Given the description of an element on the screen output the (x, y) to click on. 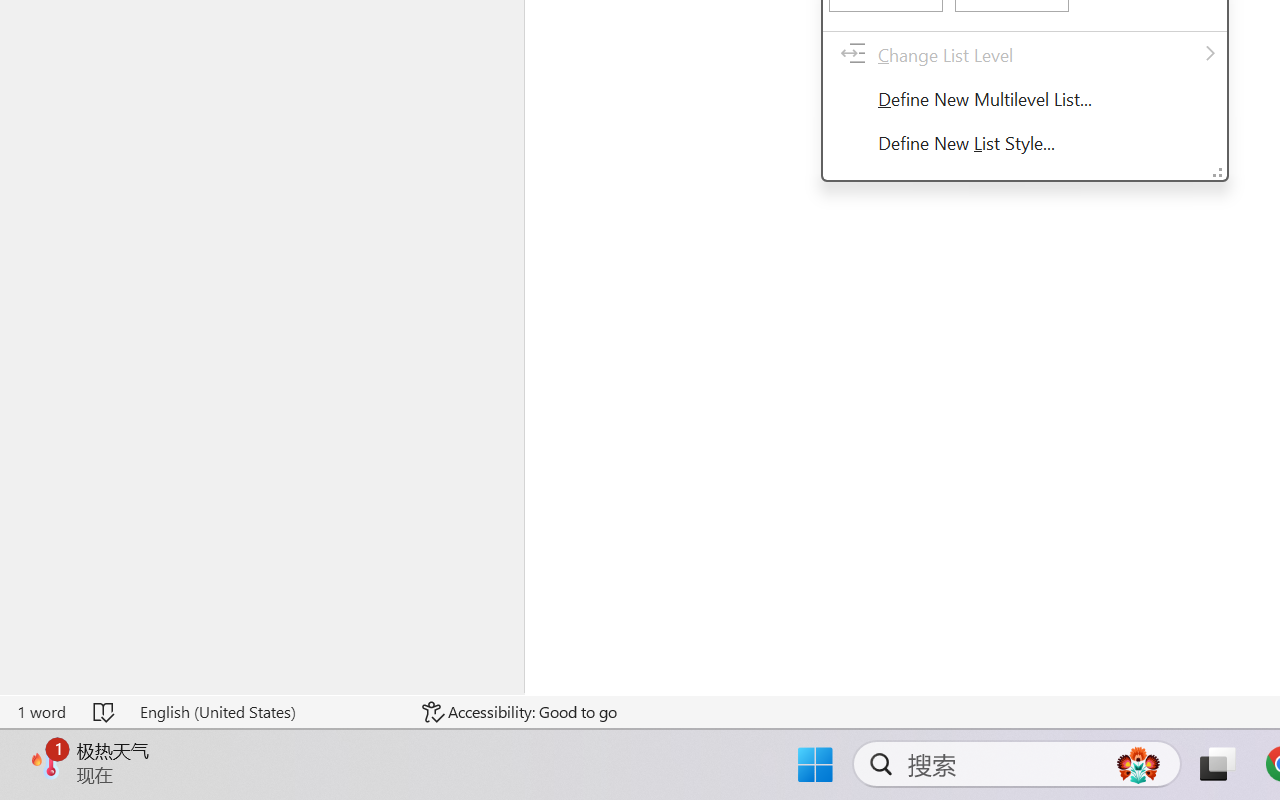
Timeline Section (175, 718)
Terminal (Ctrl+`) (602, 409)
No Ports Forwarded (120, 743)
remote (17, 743)
Manage (24, 704)
No Problems (67, 743)
Outline Section (175, 694)
Accounts (24, 650)
Debug Console (Ctrl+Shift+Y) (509, 409)
Ports (667, 409)
Manage (24, 677)
Output (Ctrl+Shift+U) (421, 409)
Problems (Ctrl+Shift+M) (351, 409)
